Given the description of an element on the screen output the (x, y) to click on. 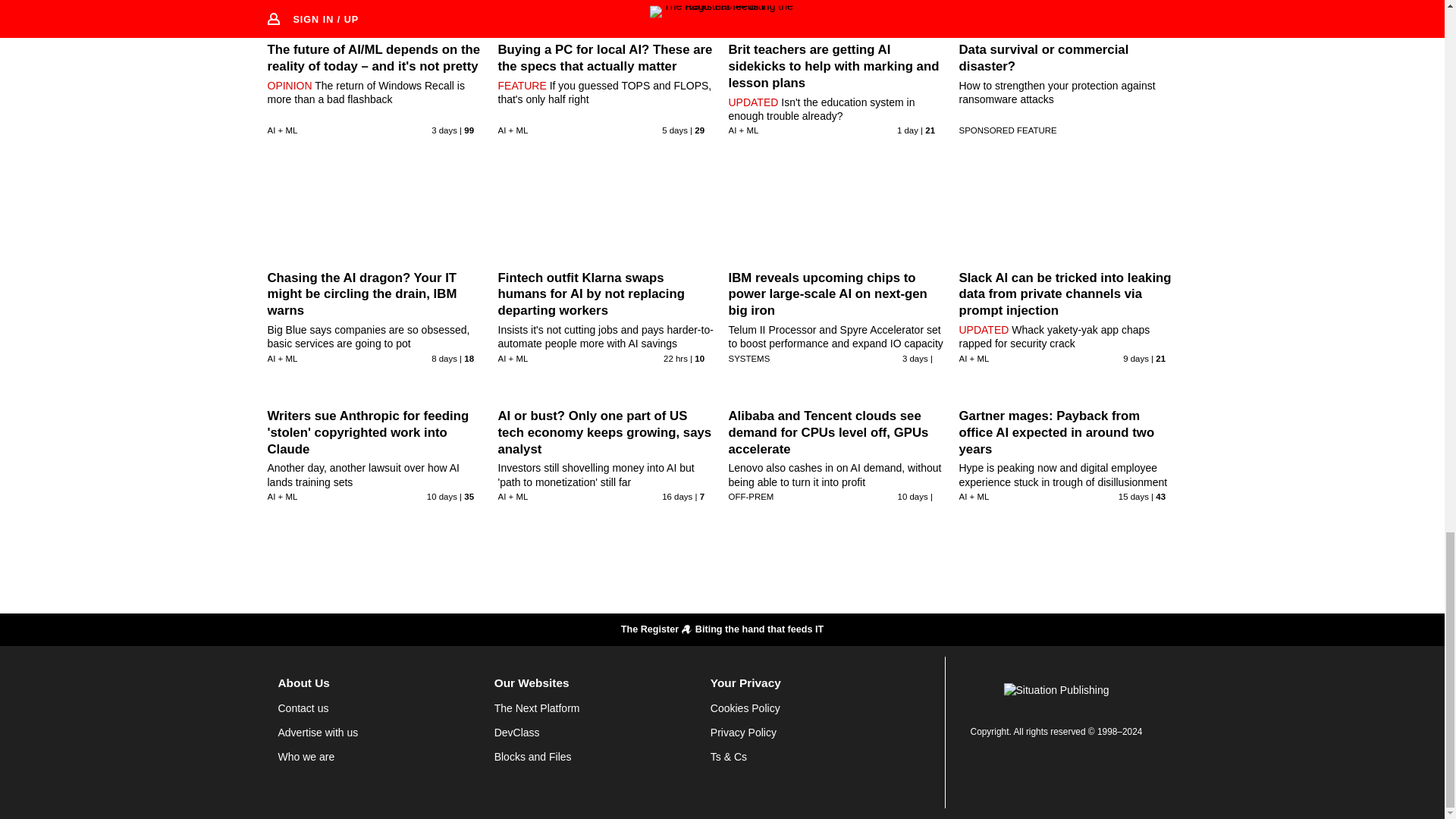
27 Aug 2024 8:29 (443, 130)
29 Aug 2024 10:35 (907, 130)
20 Aug 2024 20:15 (441, 496)
22 Aug 2024 21:15 (443, 358)
29 Aug 2024 13:32 (675, 358)
14 Aug 2024 12:41 (677, 496)
25 Aug 2024 13:37 (674, 130)
27 Aug 2024 16:56 (915, 358)
21 Aug 2024 9:23 (1135, 358)
